Given the description of an element on the screen output the (x, y) to click on. 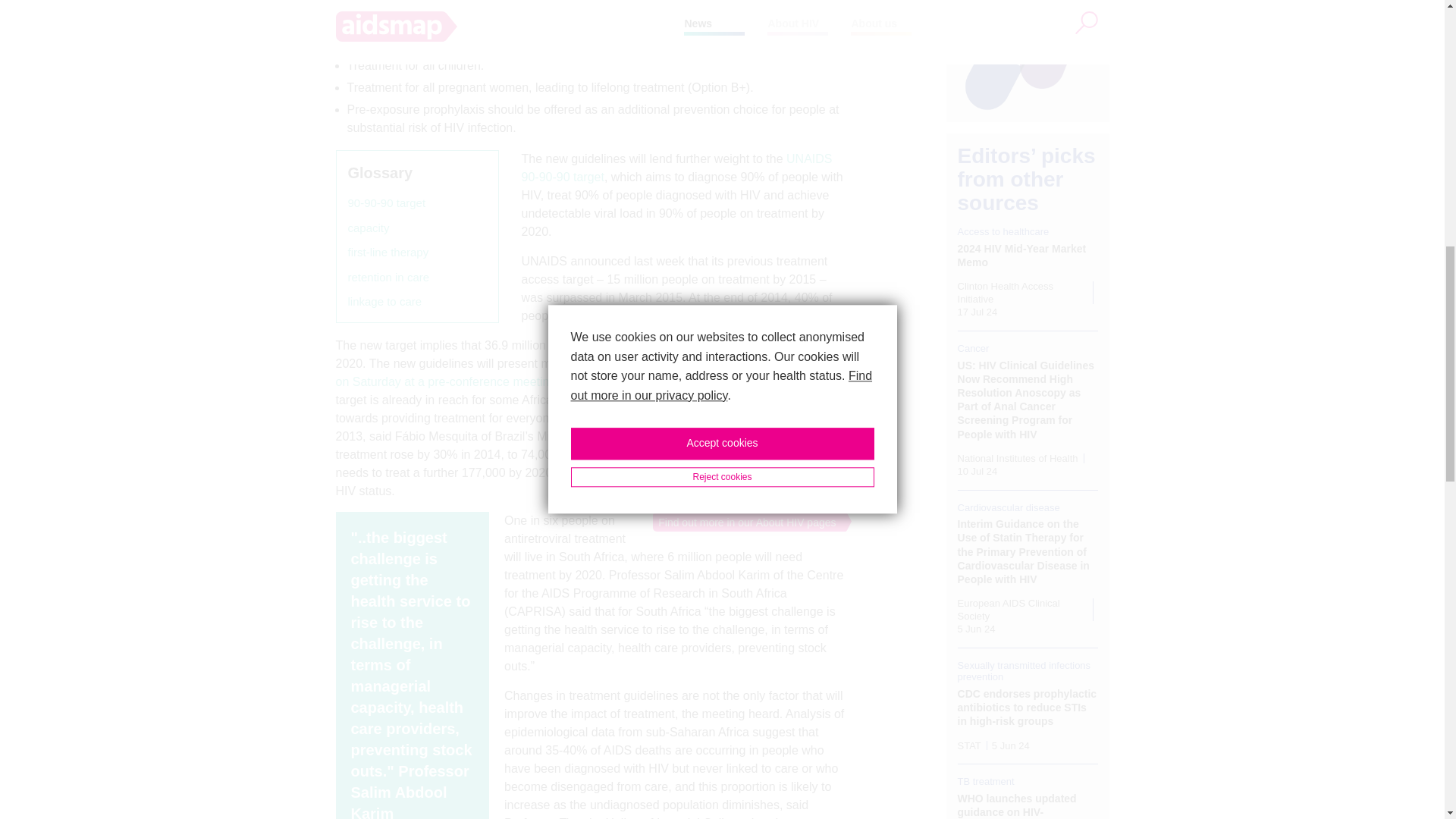
Glossary (379, 172)
UNAIDS 90-90-90 target (676, 167)
Find out more in our About HIV pages (743, 521)
retention in care (388, 277)
linkage to care (384, 302)
capacity (367, 228)
90-90-90 target (386, 203)
first-line therapy (387, 252)
